Given the description of an element on the screen output the (x, y) to click on. 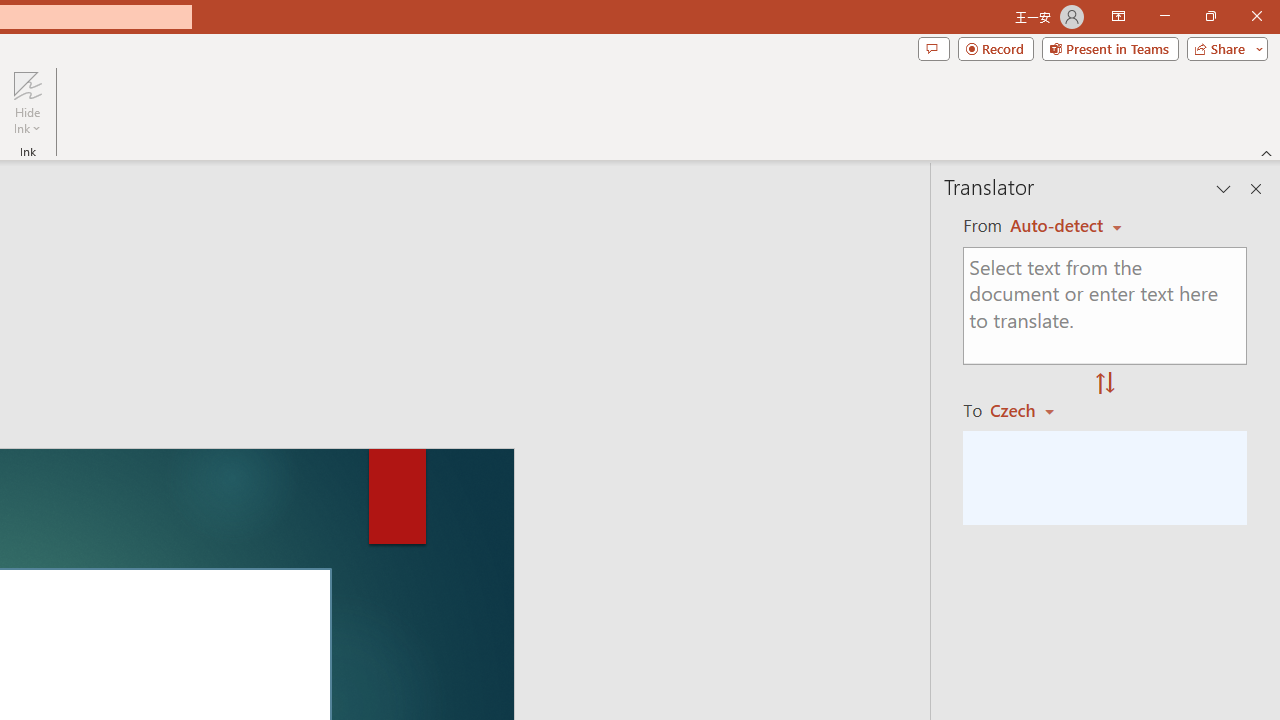
Swap "from" and "to" languages. (1105, 383)
Czech (1030, 409)
